Given the description of an element on the screen output the (x, y) to click on. 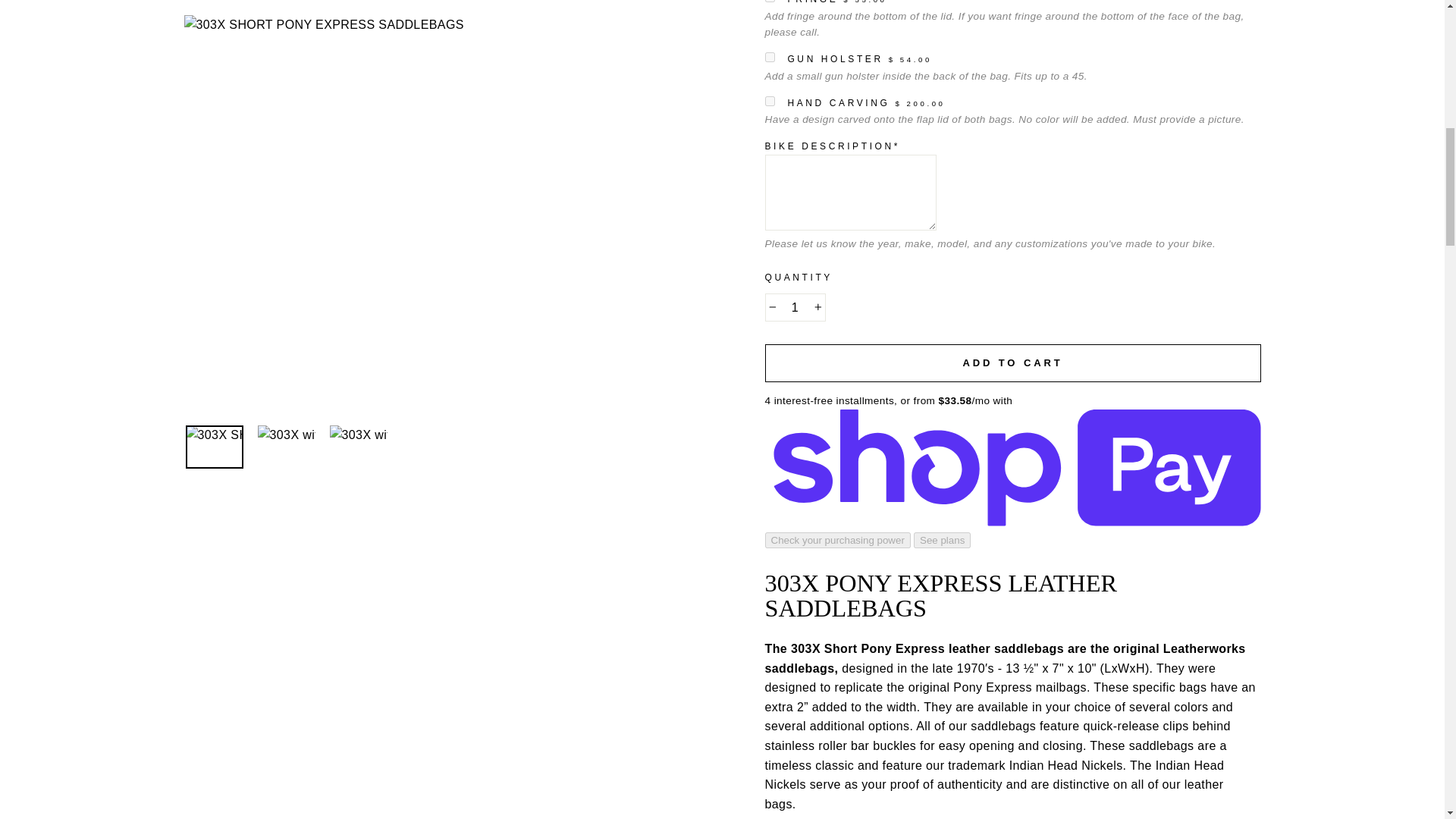
on (769, 101)
1 (794, 307)
on (769, 57)
